Given the description of an element on the screen output the (x, y) to click on. 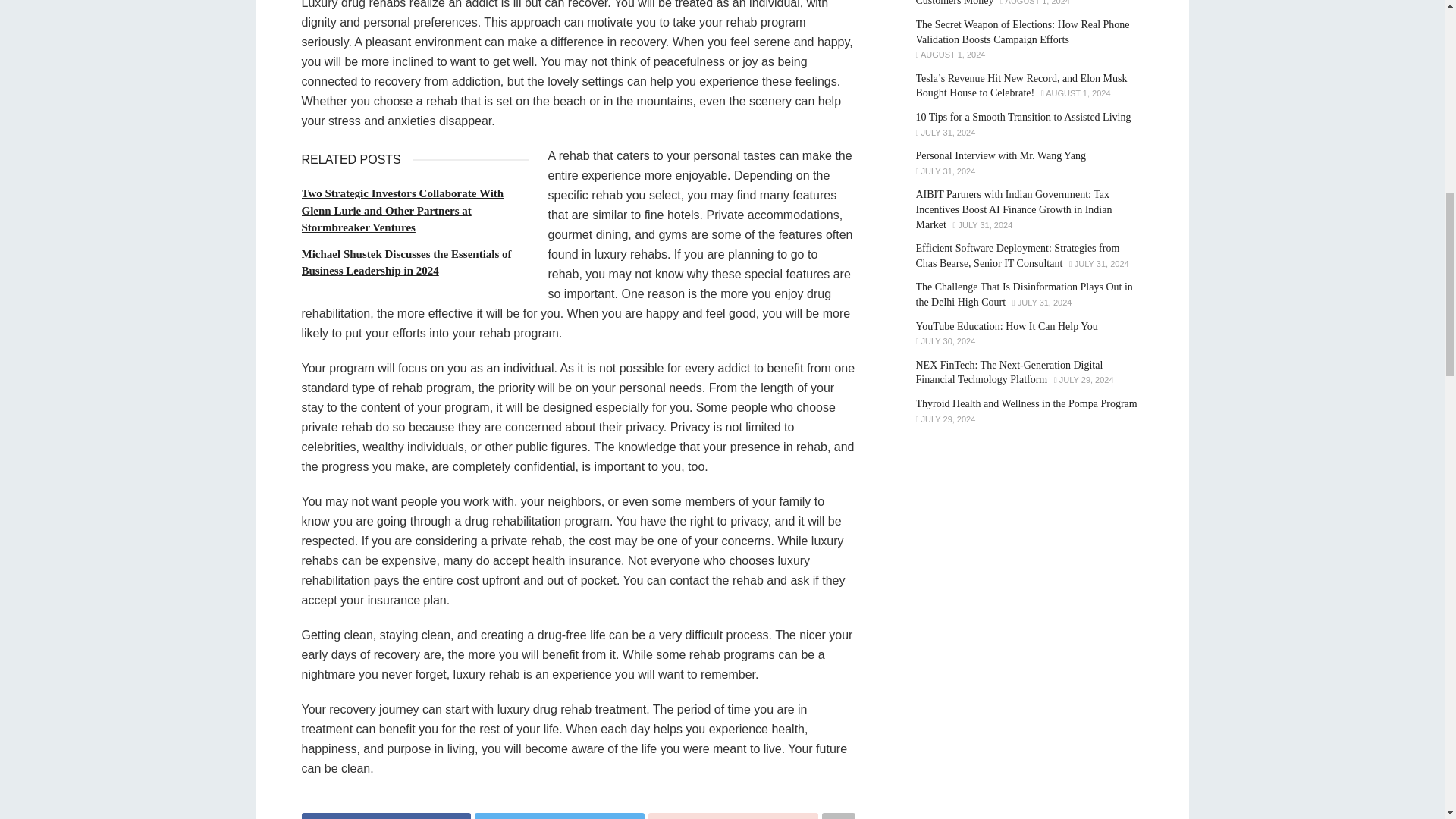
Tweet (559, 816)
Share (386, 816)
Share (732, 816)
